Given the description of an element on the screen output the (x, y) to click on. 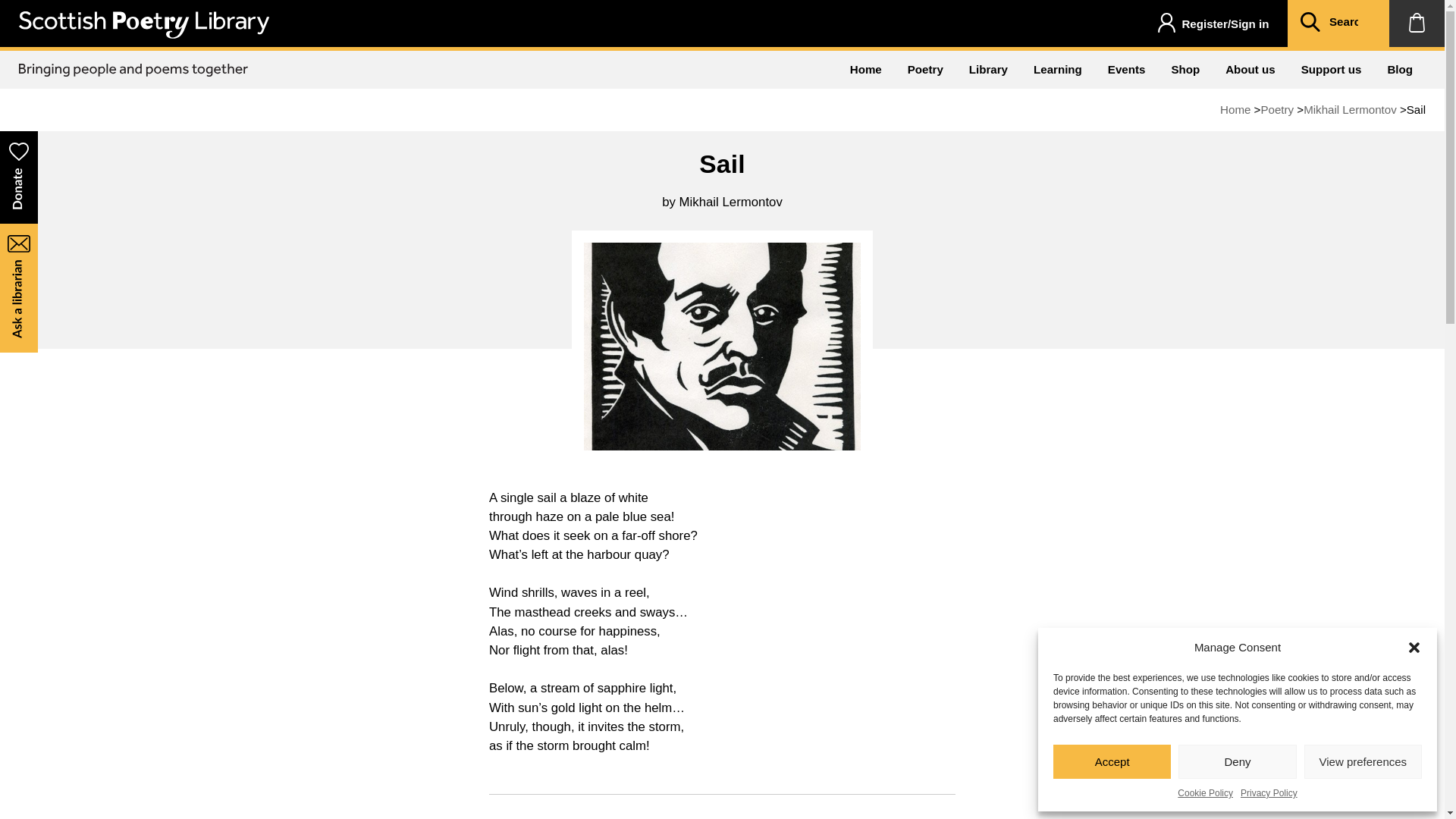
Accept (1111, 761)
View preferences (1363, 761)
Home (1235, 109)
Mikhail Lermontov (1349, 109)
Learning (1057, 69)
Cookie Policy (1205, 793)
Search (1310, 24)
Privacy Policy (1268, 793)
Deny (1236, 761)
Poetry (1277, 109)
